Given the description of an element on the screen output the (x, y) to click on. 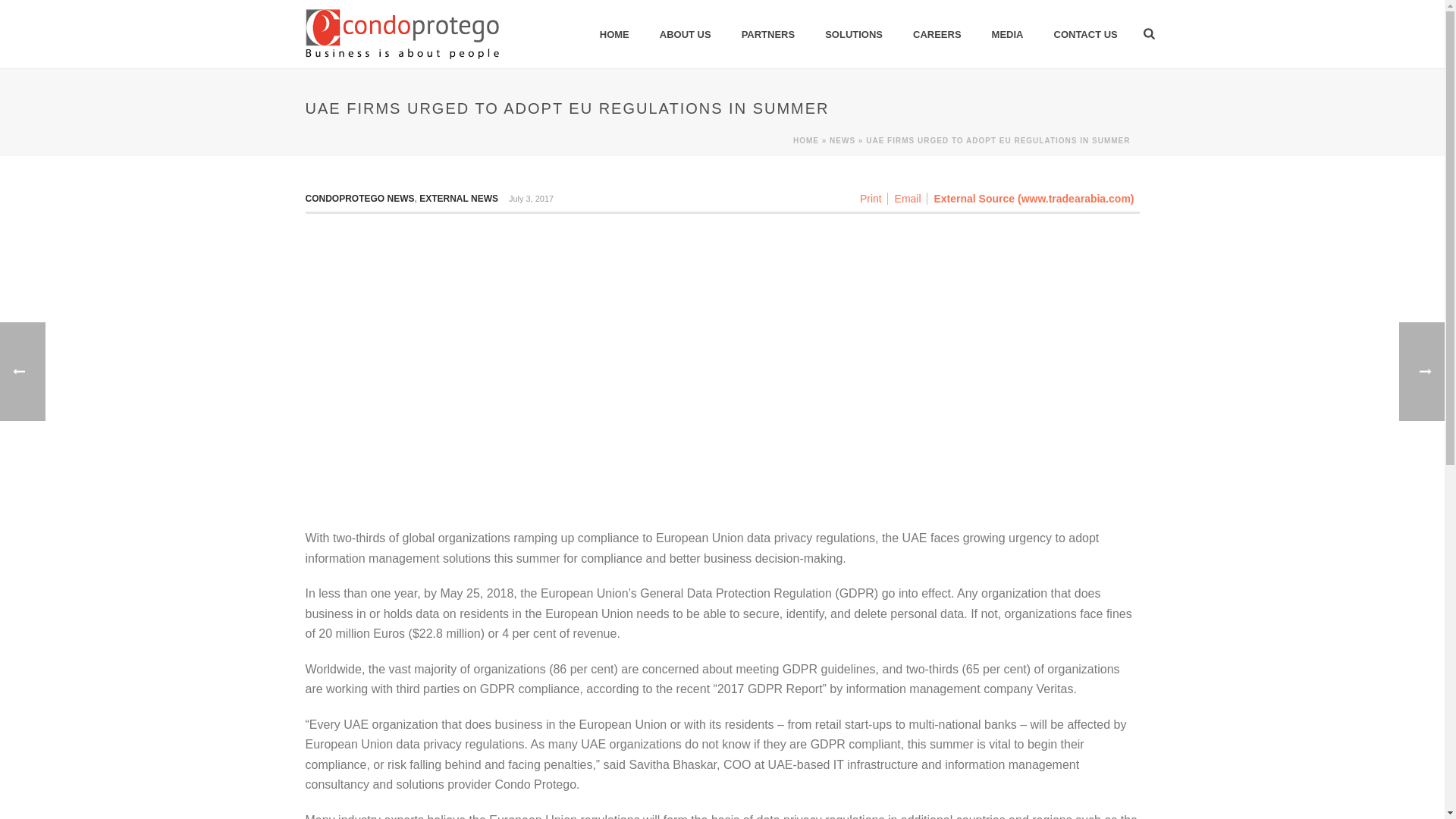
PARTNERS (768, 34)
MEDIA (1007, 34)
CONTACT US (1085, 34)
CAREERS (937, 34)
Dell Emc, Veritas, Vmware, Forcepoint Solutions (400, 33)
MEDIA (1007, 34)
HOME (615, 34)
ABOUT US (685, 34)
SOLUTIONS (853, 34)
PARTNERS (768, 34)
